Given the description of an element on the screen output the (x, y) to click on. 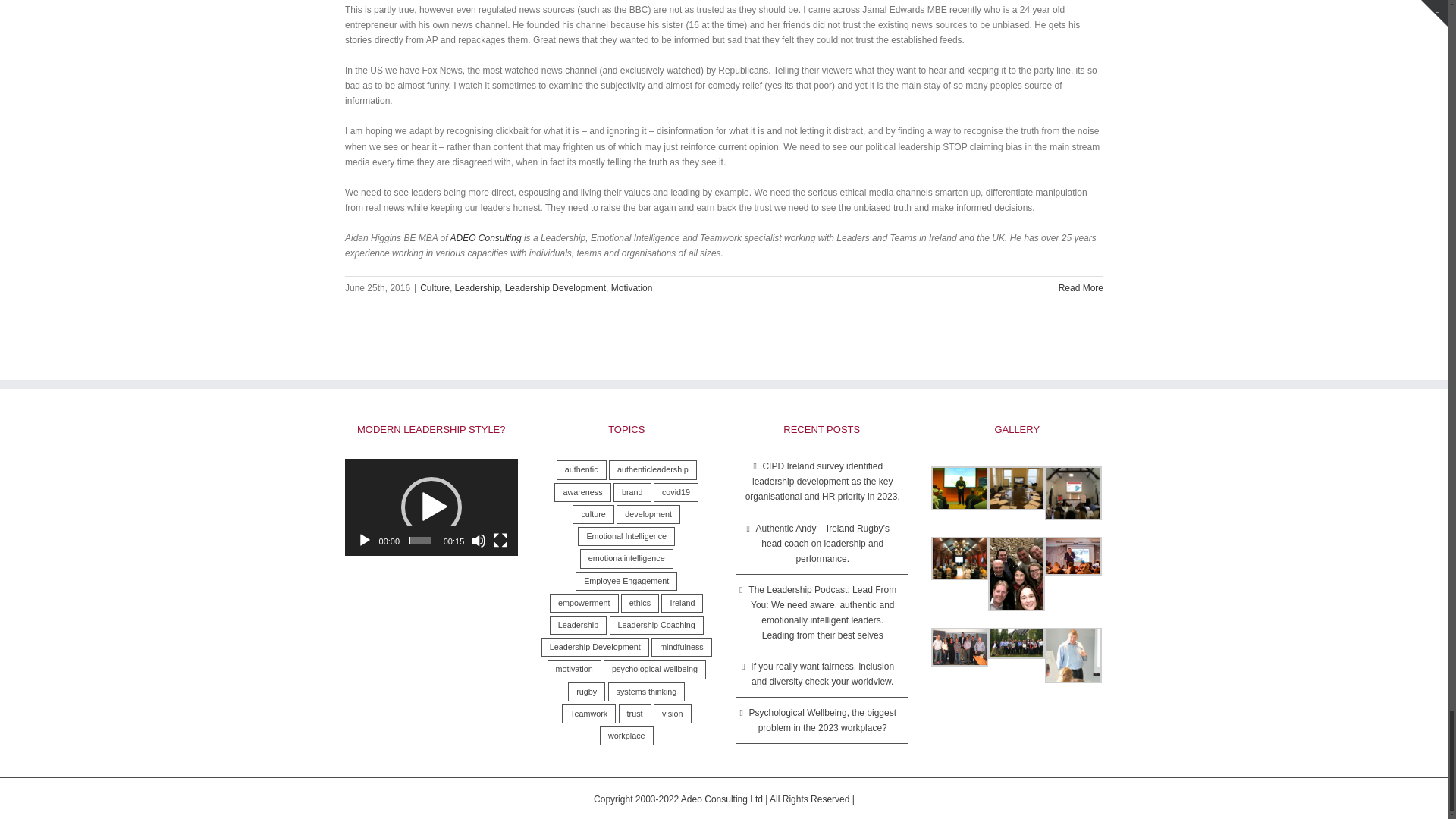
Play (364, 540)
Mute (478, 540)
Fullscreen (500, 540)
